Given the description of an element on the screen output the (x, y) to click on. 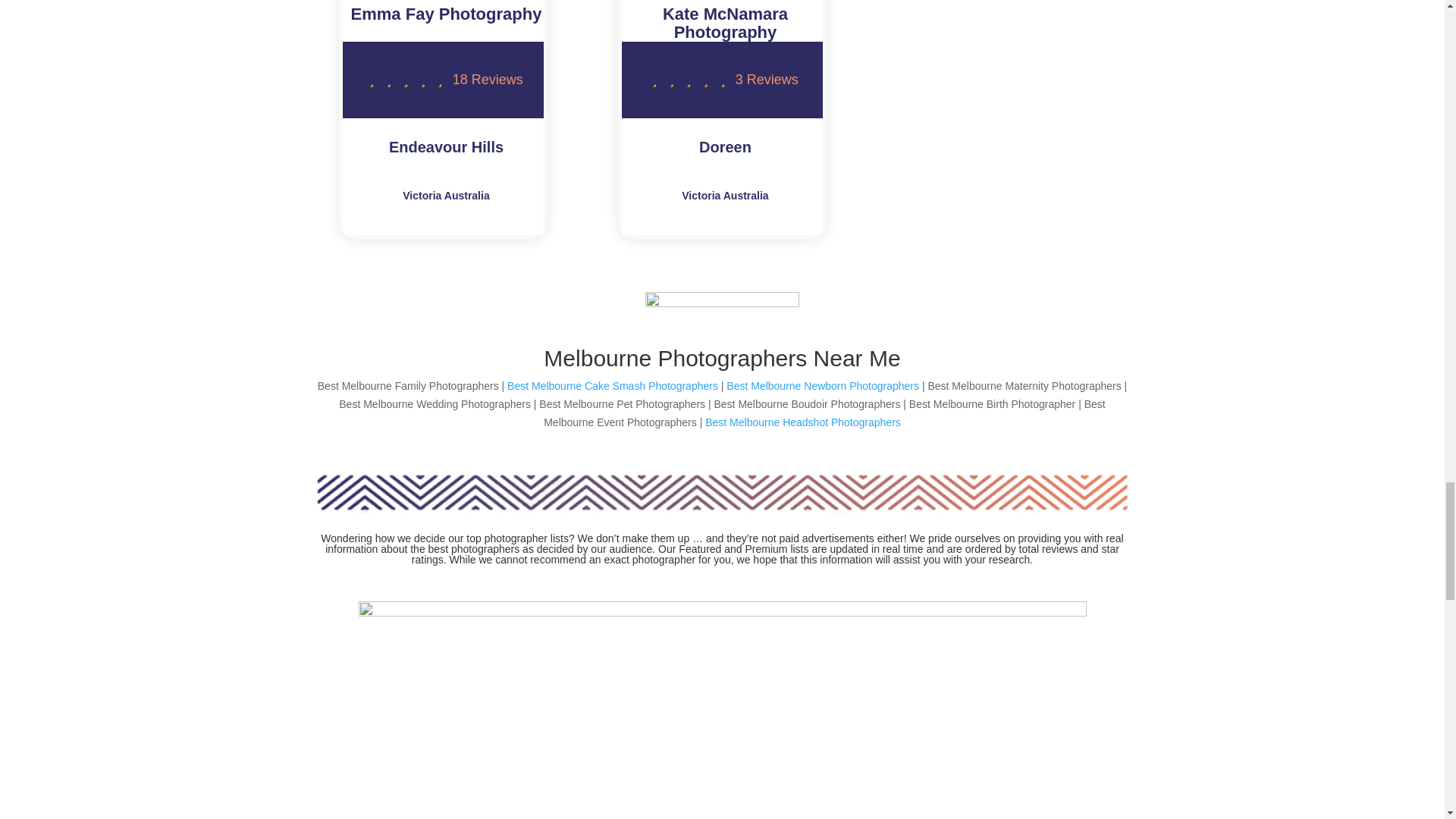
5 star rating (405, 80)
5 star rating (689, 80)
